Given the description of an element on the screen output the (x, y) to click on. 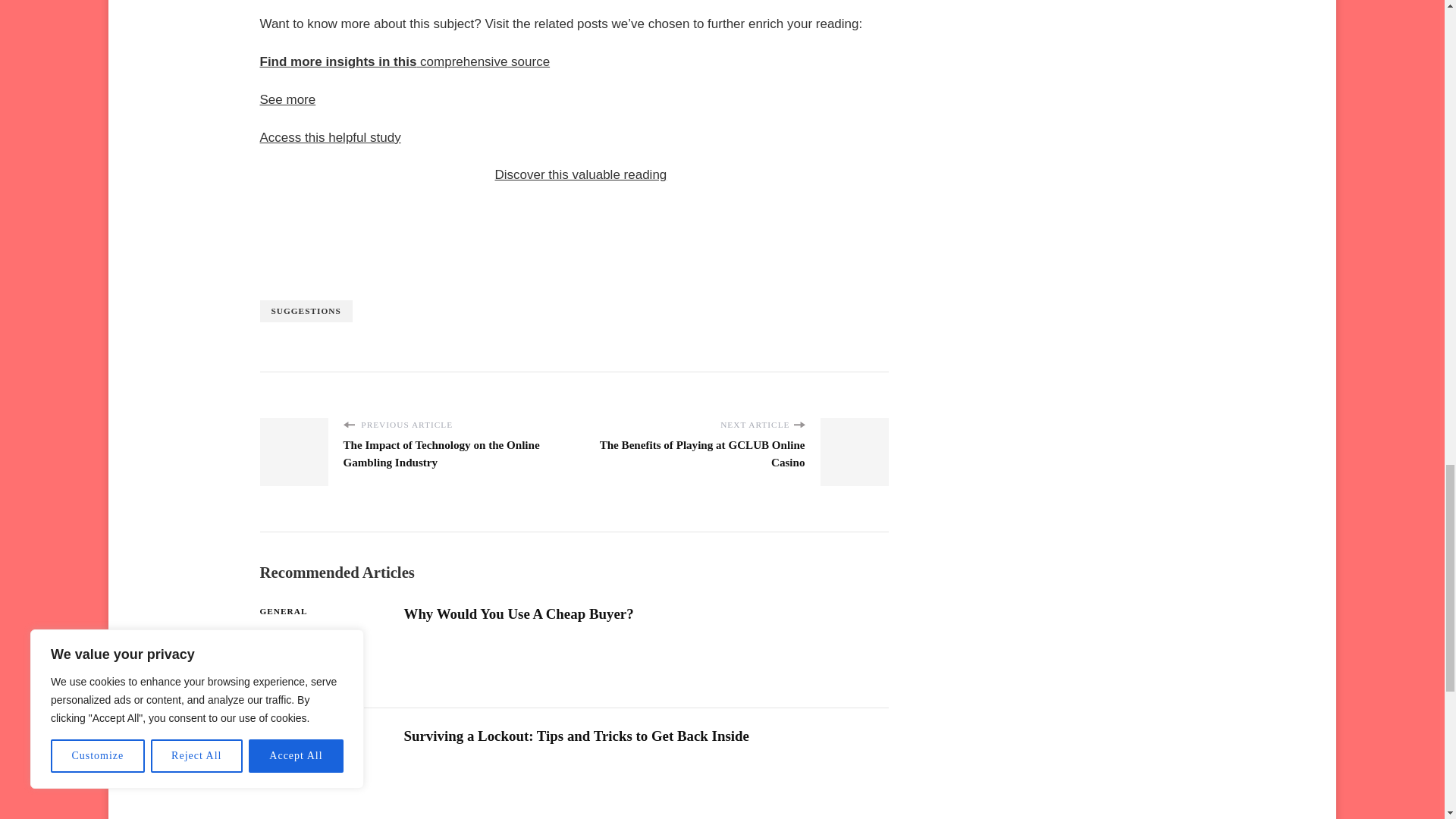
Find more insights in this comprehensive source (404, 61)
See more (287, 99)
Access this helpful study (329, 137)
GENERAL (283, 611)
SUGGESTIONS (305, 311)
Discover this valuable reading (580, 174)
